Given the description of an element on the screen output the (x, y) to click on. 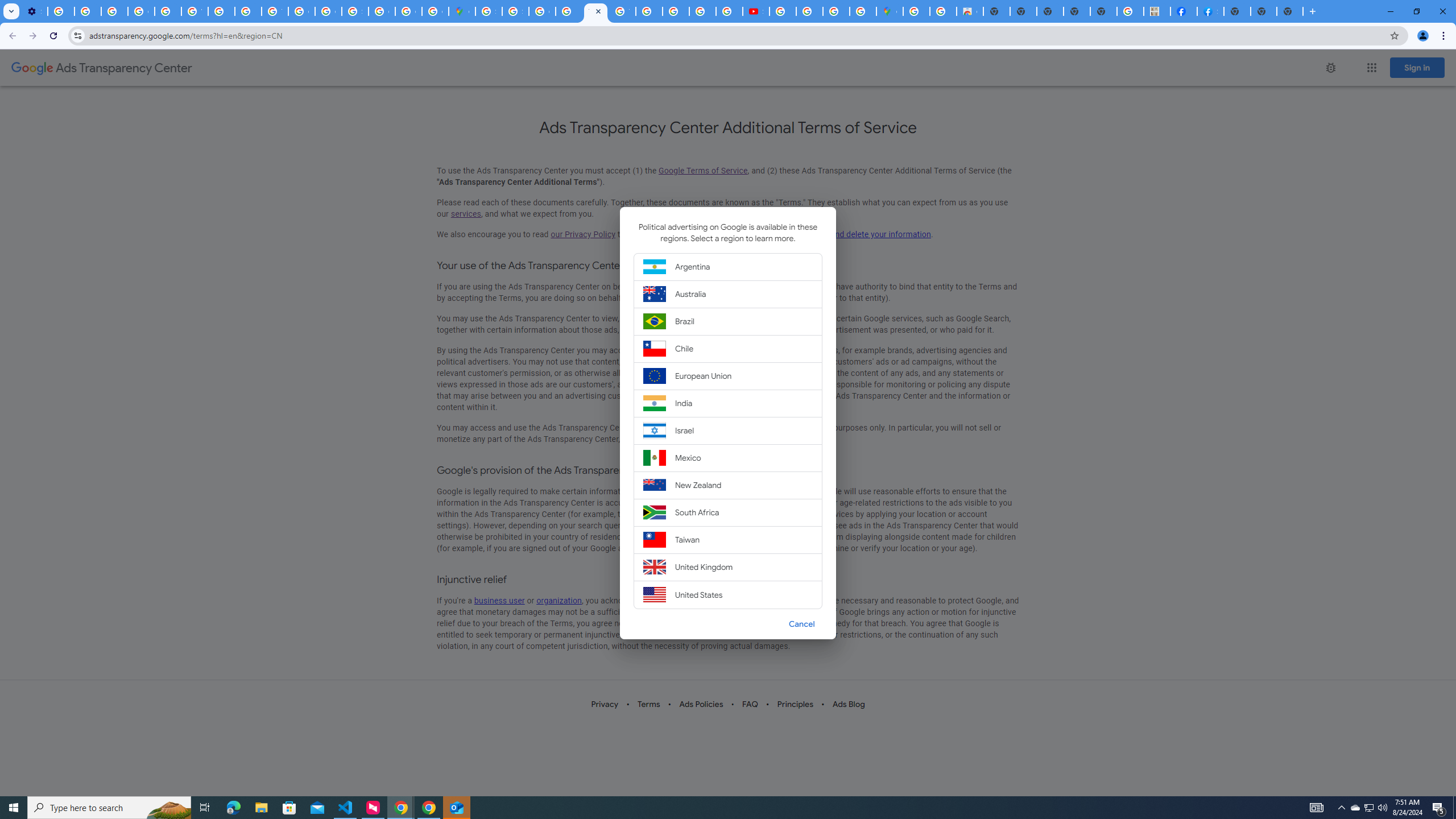
Go to Ads Transparency Center home page. (101, 68)
Send Bug Report (1330, 67)
India (727, 403)
Chile (727, 348)
How Chrome protects your passwords - Google Chrome Help (782, 11)
United Kingdom (727, 567)
Ads Policies (700, 703)
Miley Cyrus | Facebook (1183, 11)
Google Maps (462, 11)
